Given the description of an element on the screen output the (x, y) to click on. 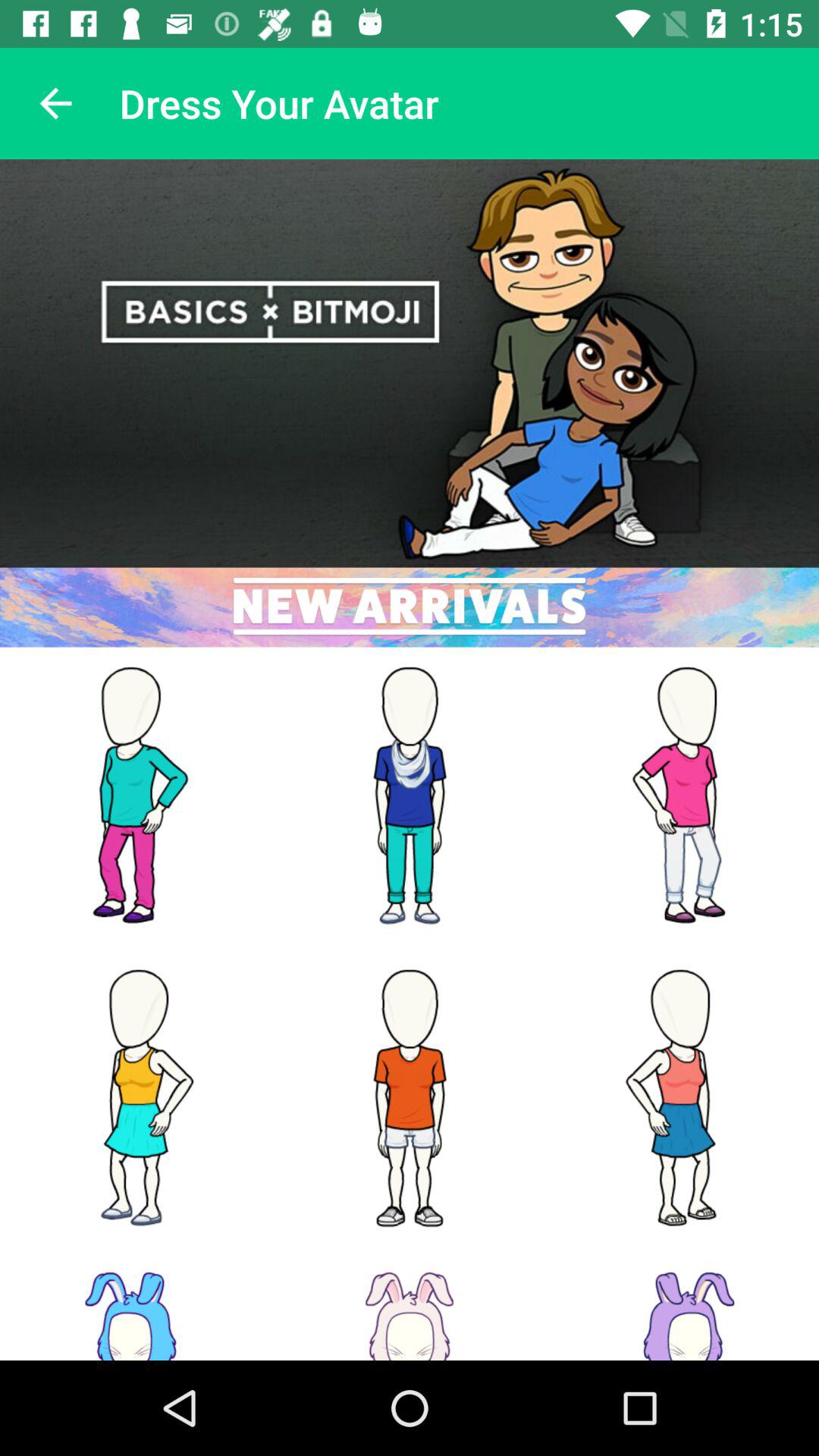
tap the app next to dress your avatar app (55, 103)
